Given the description of an element on the screen output the (x, y) to click on. 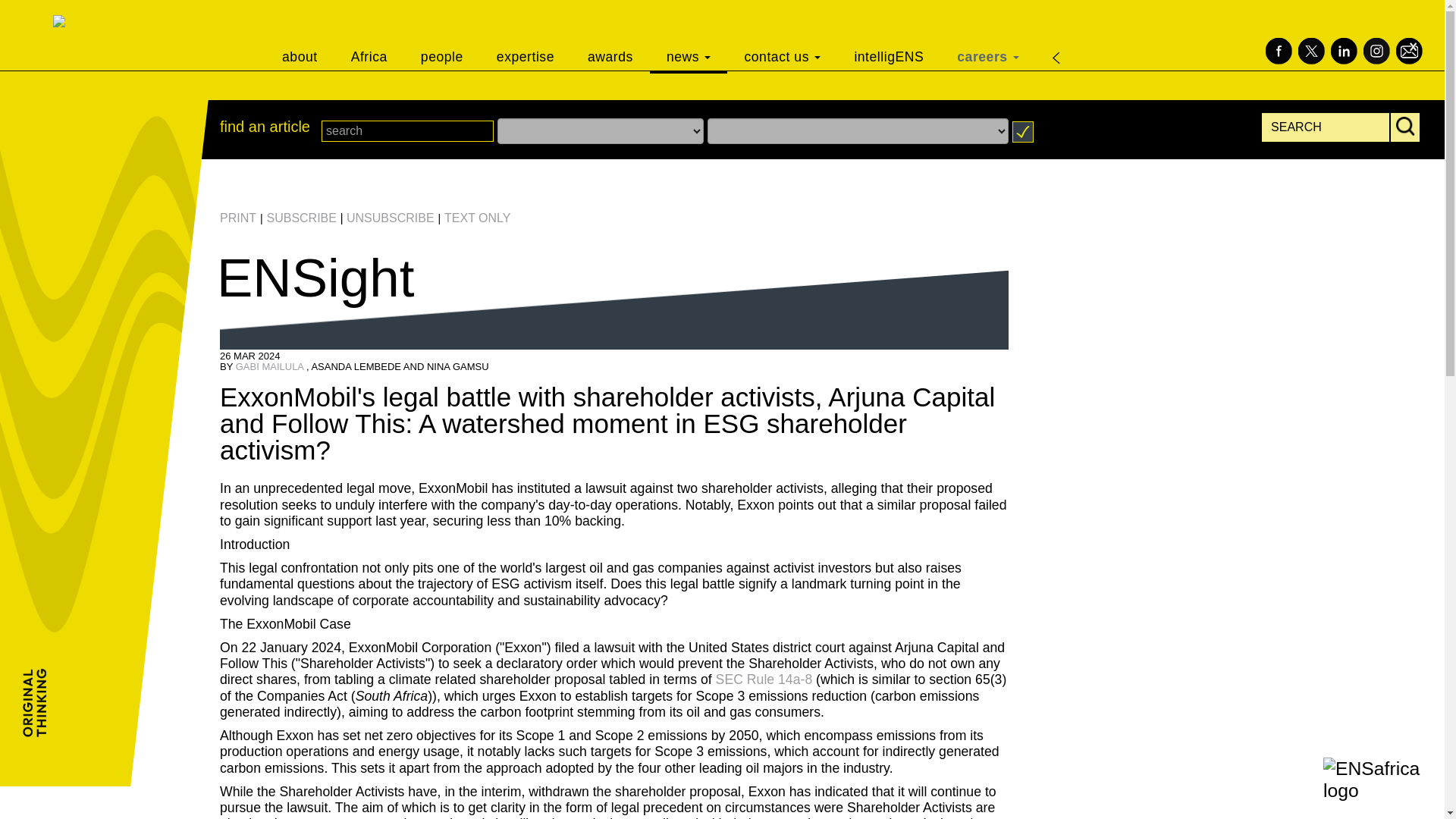
careers (987, 36)
expertise (525, 36)
awards (609, 36)
intelligENS (888, 36)
contact us (781, 36)
Africa (369, 36)
news (688, 36)
about (299, 36)
people (442, 36)
